Given the description of an element on the screen output the (x, y) to click on. 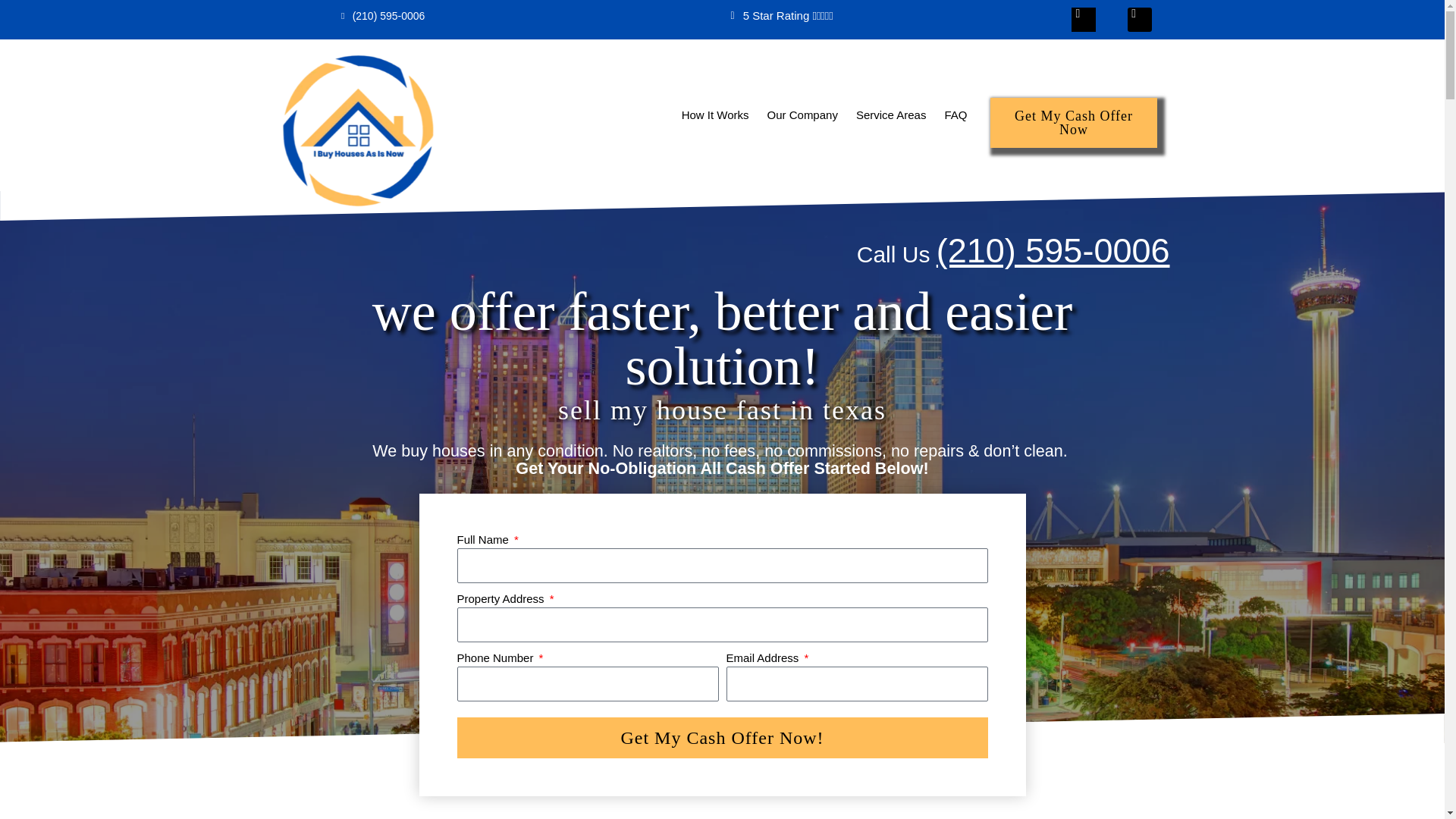
Get My Cash Offer Now! (722, 737)
Service Areas (890, 115)
FAQ (955, 115)
Get My Cash Offer Now (1073, 122)
Our Company (801, 115)
How It Works (714, 115)
